Given the description of an element on the screen output the (x, y) to click on. 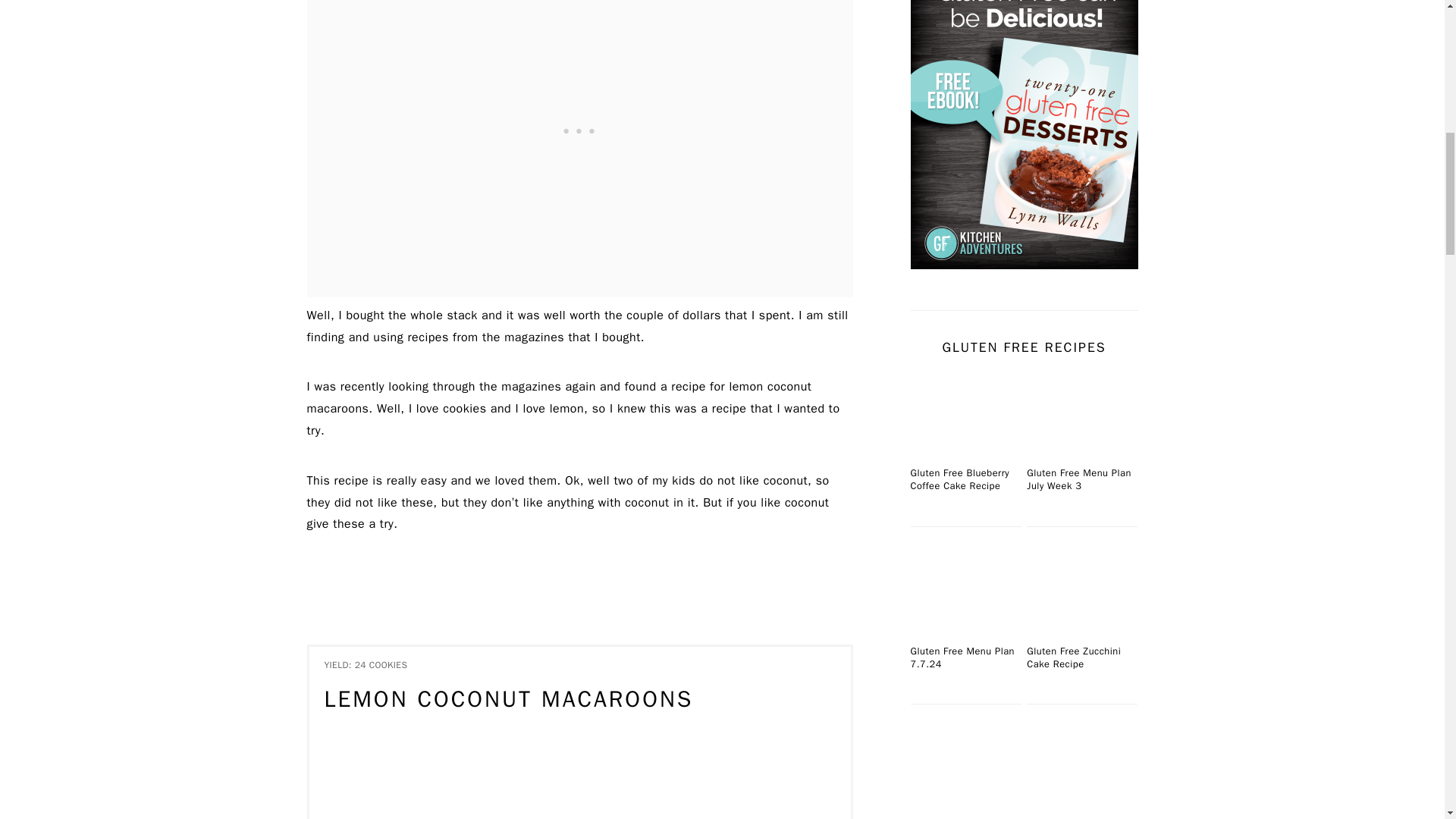
Gluten Free Menu Plan 7.7.24 (965, 591)
Gluten Free Menu Plan 6.16.24 (1081, 768)
Gluten Free Menu Plan July Week 3 (1081, 413)
Gluten Free Blueberry Coffee Cake Recipe (965, 413)
Gluten Free Menu Plan 6.23.24 (965, 768)
Gluten Free Zucchini Cake Recipe (1081, 591)
